Given the description of an element on the screen output the (x, y) to click on. 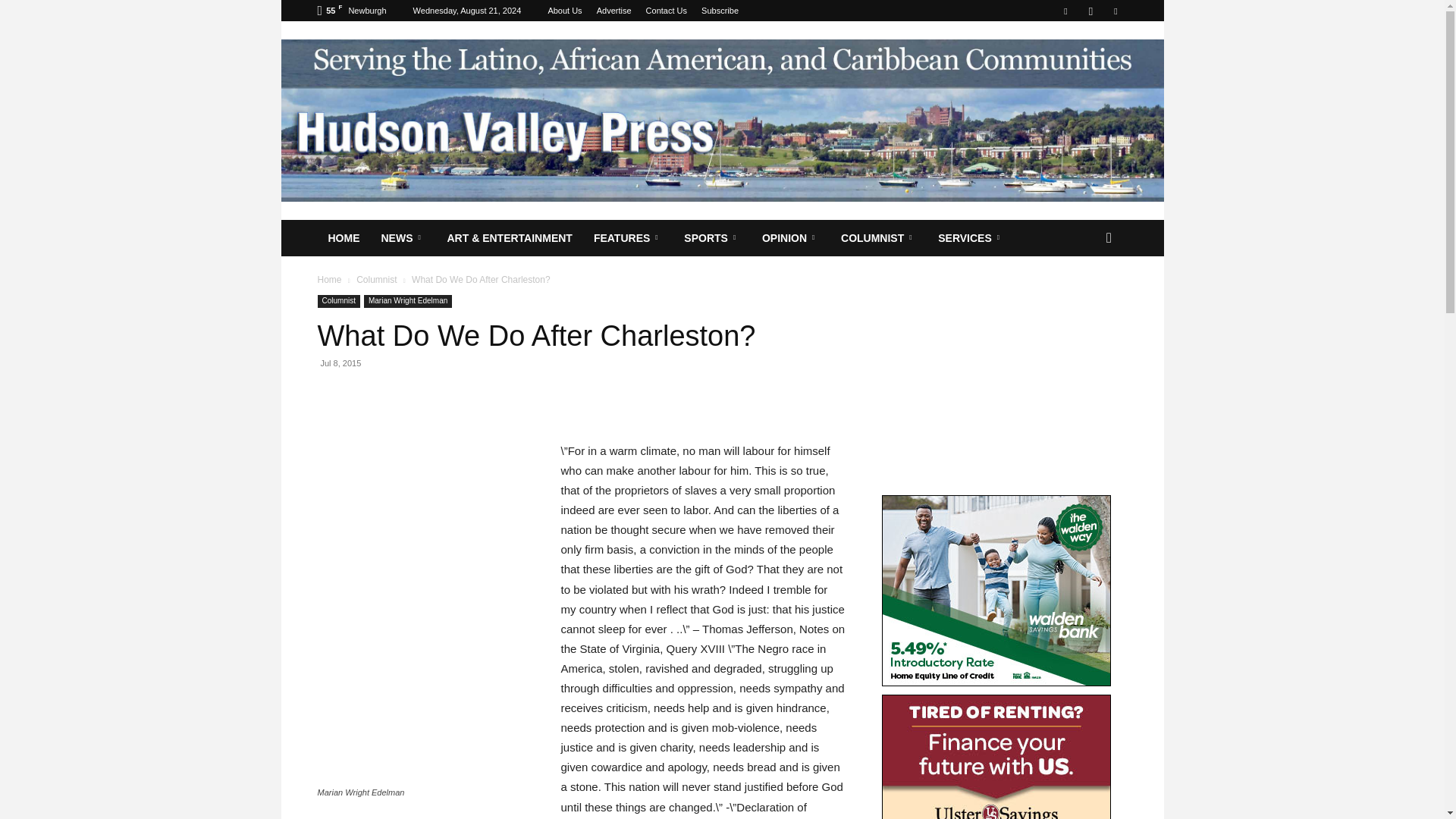
Instagram (1090, 10)
View all posts in Columnist (376, 279)
Twitter (1114, 10)
Facebook (1065, 10)
